Given the description of an element on the screen output the (x, y) to click on. 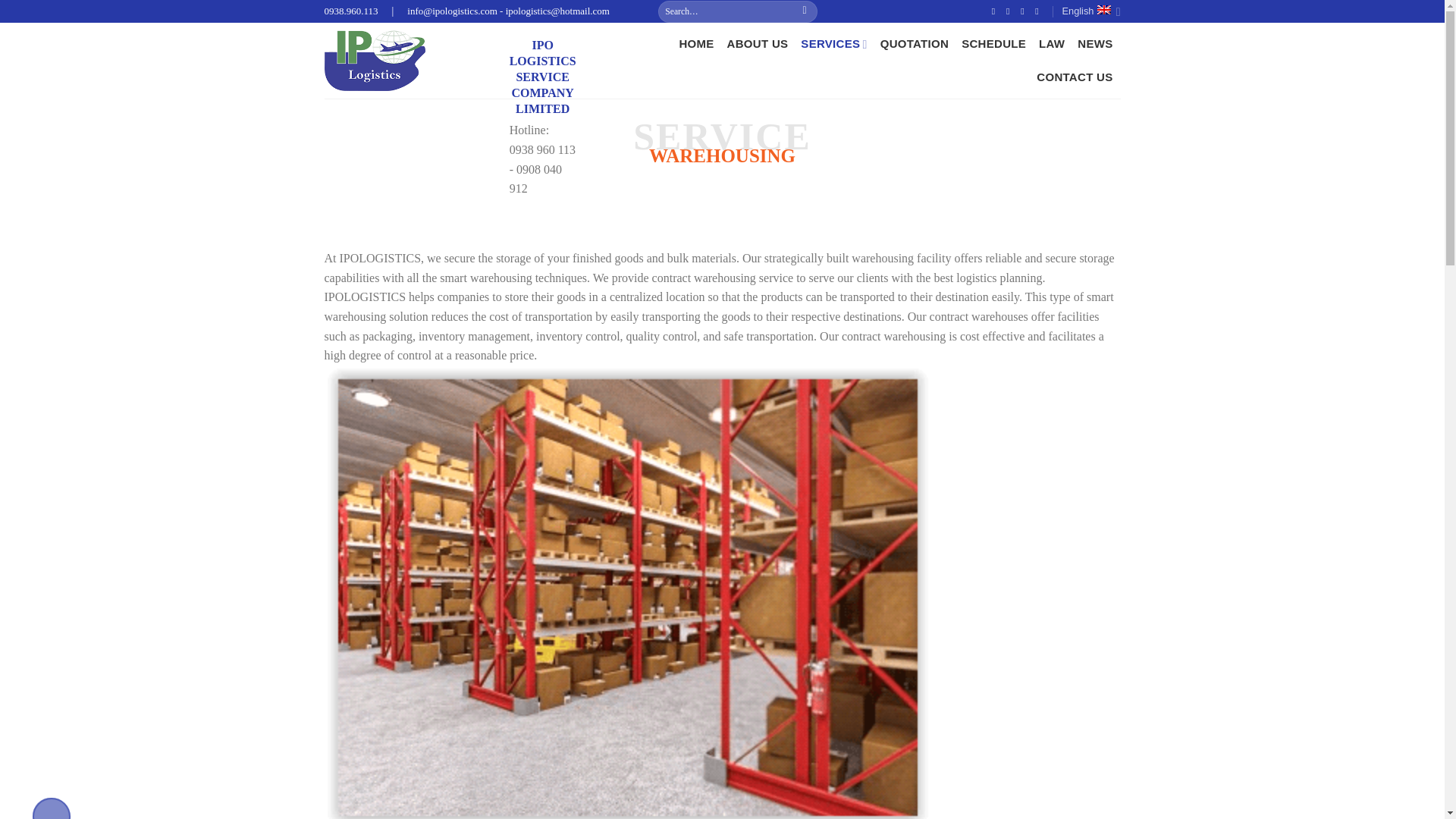
CONTACT US (1074, 77)
IPO LOGISTICS VIETNAM (394, 60)
HOME (695, 43)
NEWS (1094, 43)
English (1090, 11)
ABOUT US (757, 43)
QUOTATION (914, 43)
SERVICES (833, 43)
SCHEDULE (993, 43)
